Given the description of an element on the screen output the (x, y) to click on. 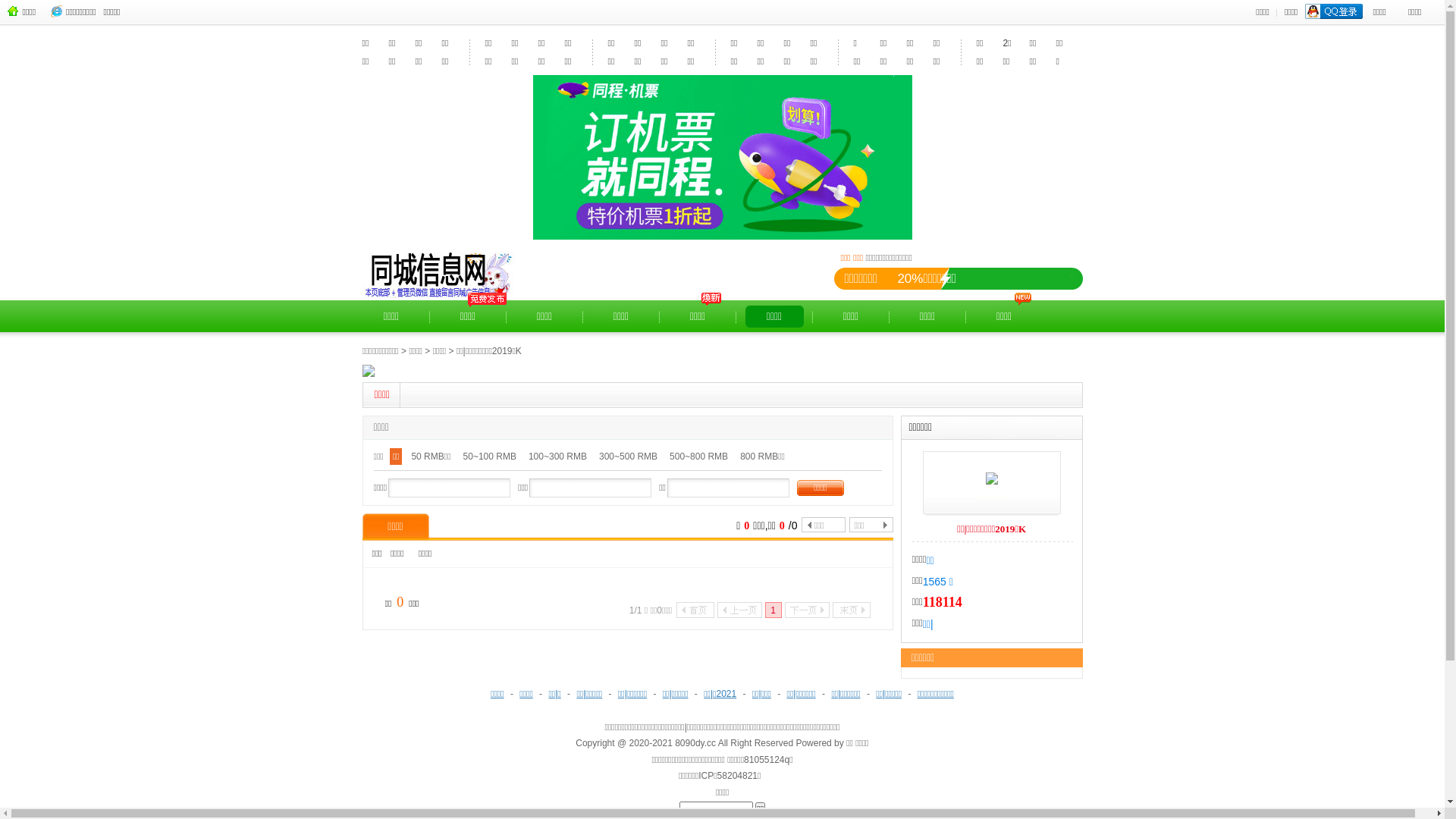
300~500 RMB Element type: text (628, 456)
500~800 RMB Element type: text (698, 456)
1 Element type: text (772, 610)
100~300 RMB Element type: text (557, 456)
50~100 RMB Element type: text (489, 456)
